Given the description of an element on the screen output the (x, y) to click on. 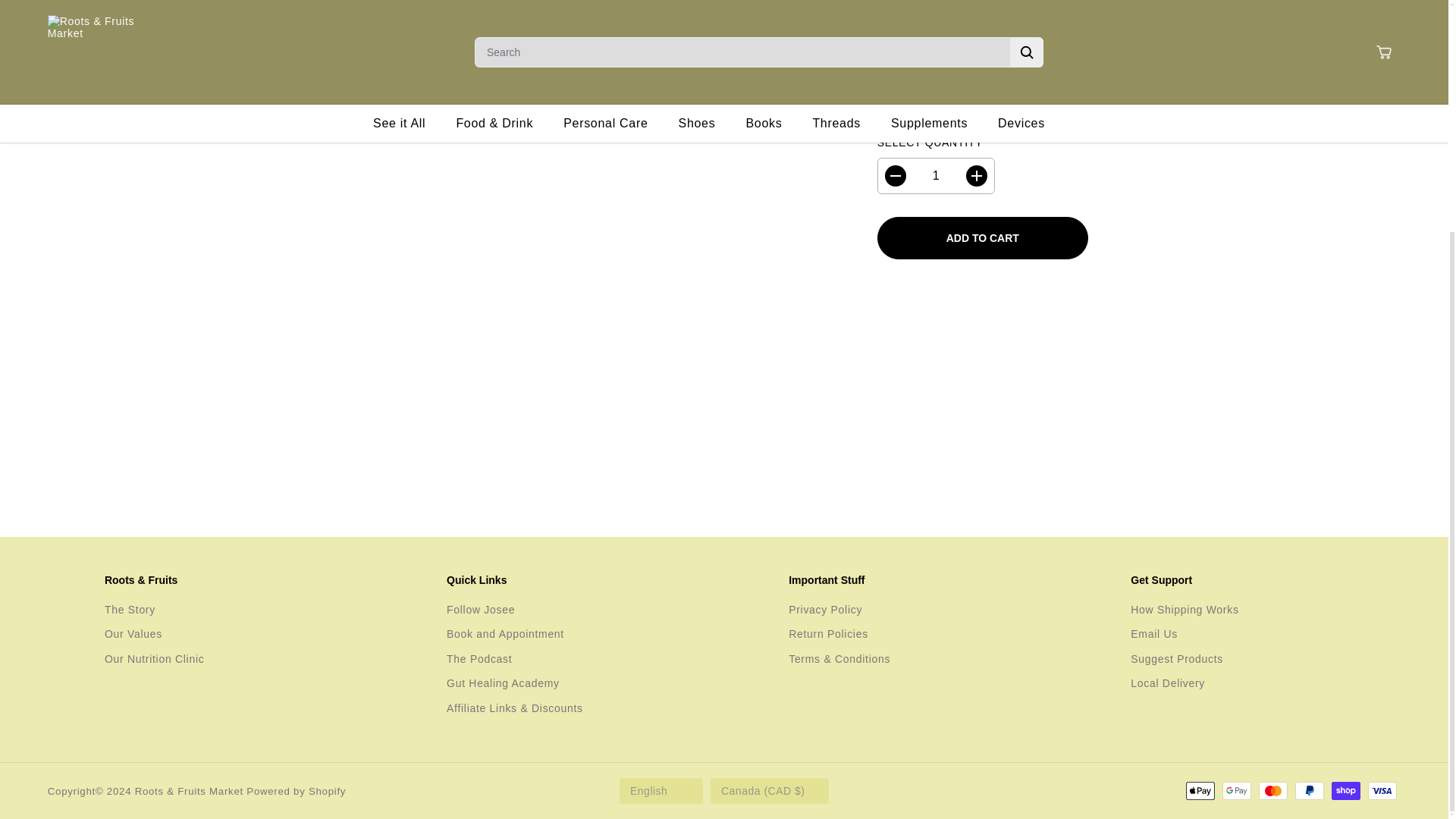
Mastercard (1273, 791)
Decrease quantity for Grain-Free Baking Powder (895, 5)
ADD TO CART (982, 62)
PayPal (1309, 791)
Increase quantity for Grain-Free Baking Powder (976, 5)
Google Pay (1236, 791)
Shop Pay (1345, 791)
1 (935, 9)
Apple Pay (1200, 791)
Visa (1382, 791)
